Given the description of an element on the screen output the (x, y) to click on. 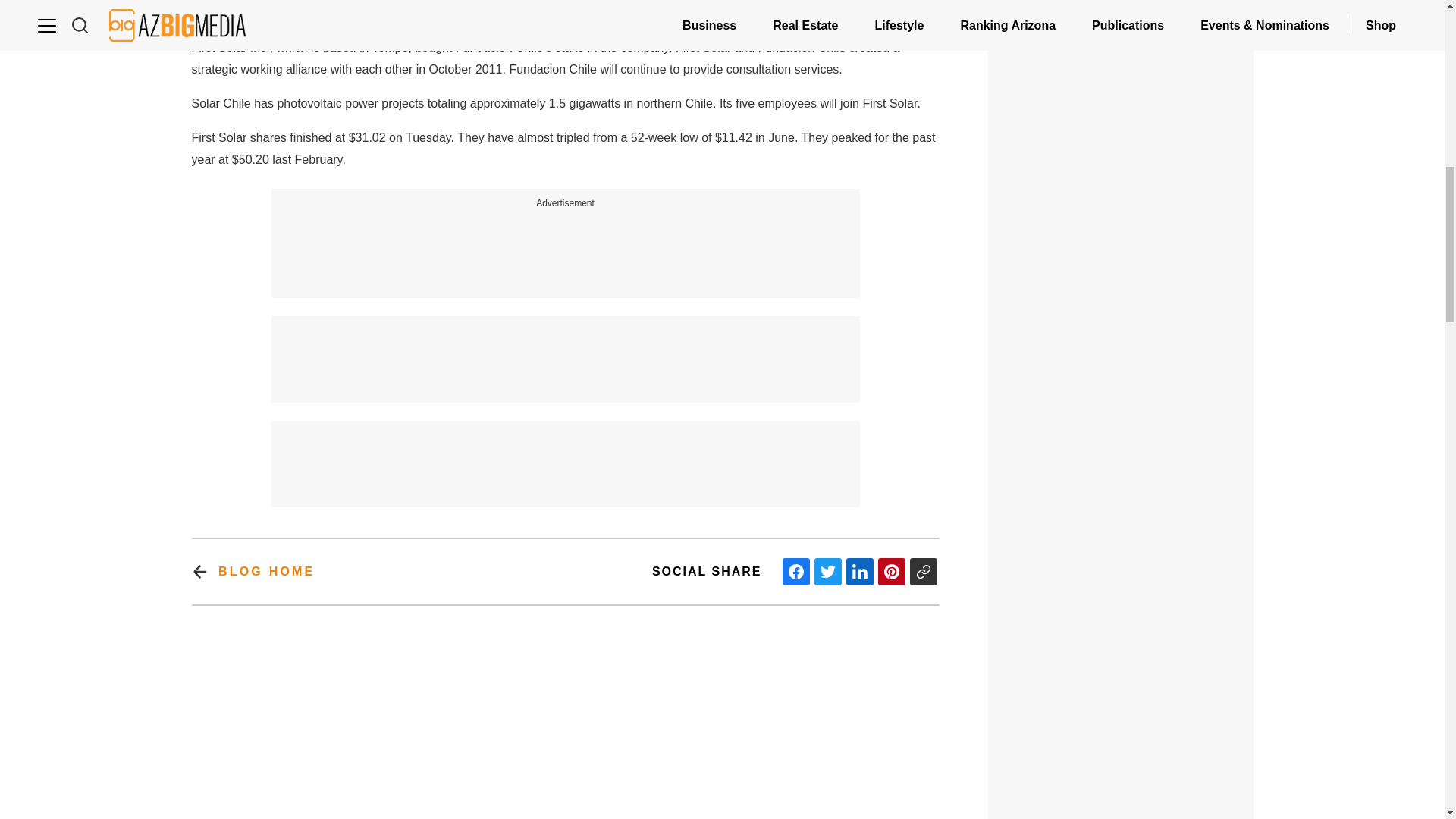
3rd party ad content (565, 350)
3rd party ad content (1120, 194)
3rd party ad content (565, 454)
3rd party ad content (1120, 721)
3rd party ad content (565, 245)
